Given the description of an element on the screen output the (x, y) to click on. 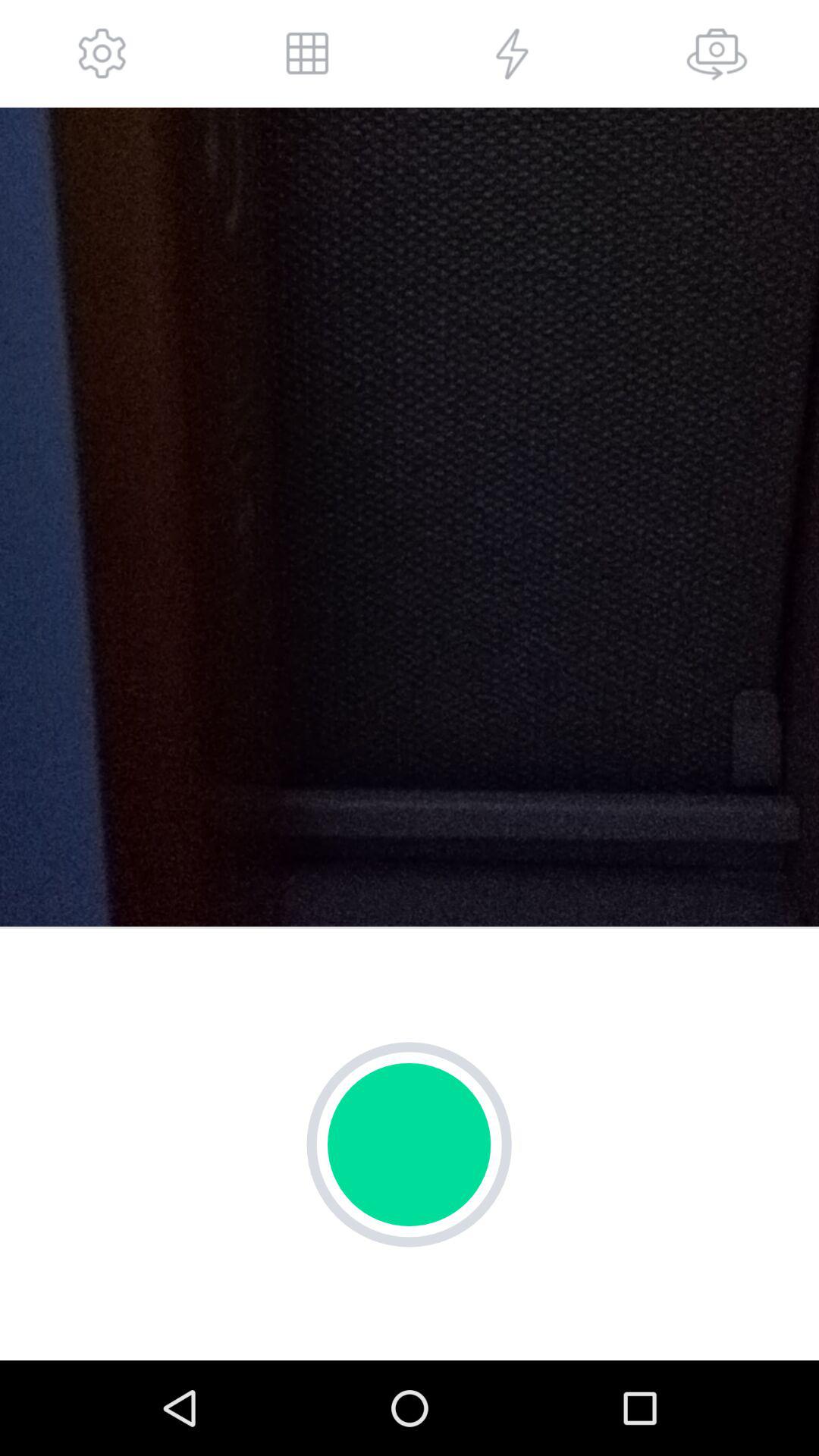
open more (306, 53)
